Given the description of an element on the screen output the (x, y) to click on. 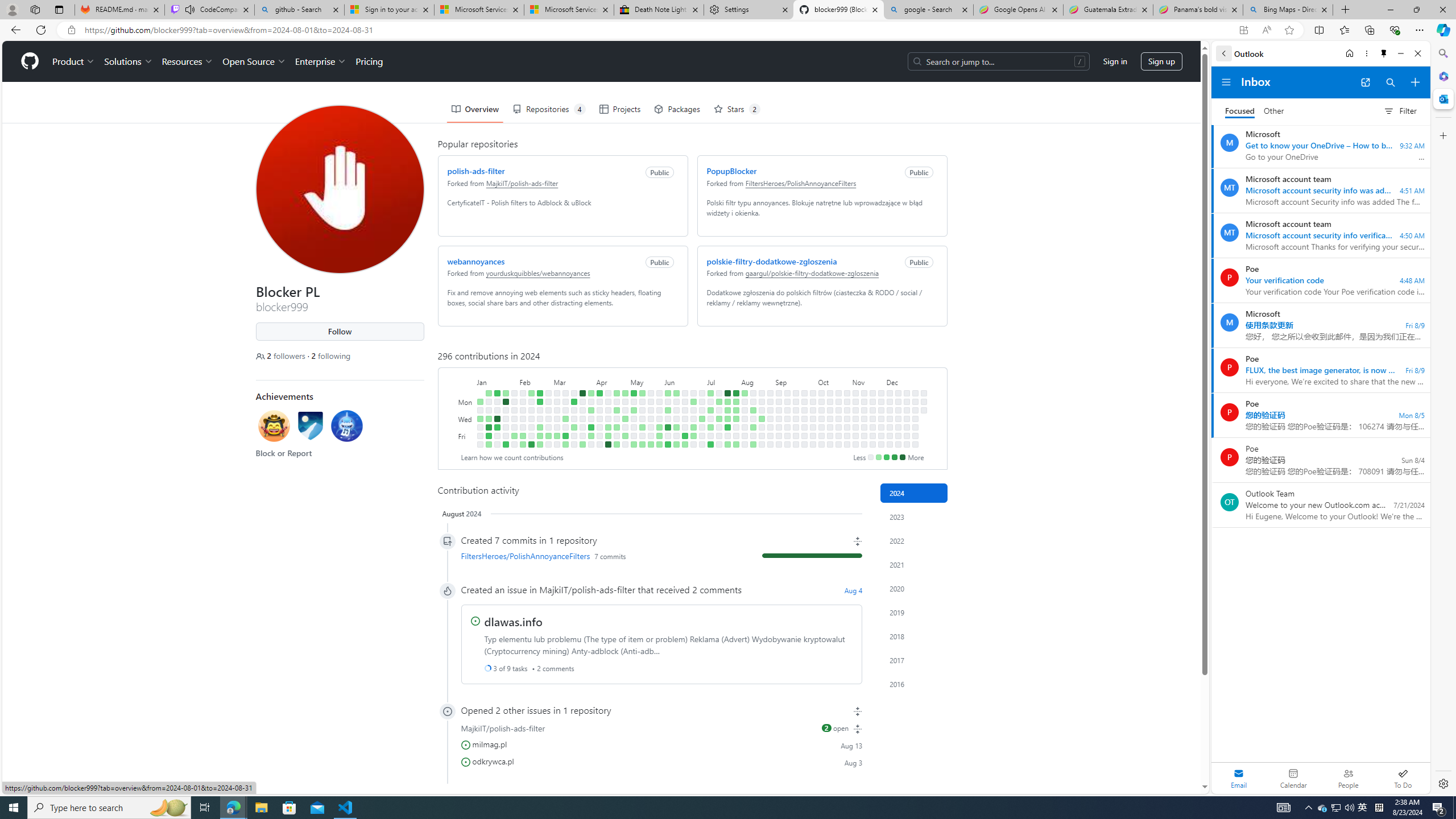
Monday (465, 401)
No contributions on January 2nd. (479, 410)
2 contributions on June 13th. (675, 427)
5 contributions on February 18th. (539, 392)
No contributions on October 12th. (821, 444)
No contributions on January 25th. (505, 427)
1 contribution on July 7th. (710, 392)
5 contributions on April 4th. (591, 427)
2 contributions on June 28th. (693, 435)
No contributions on January 23rd. (505, 410)
No contributions on September 27th. (804, 435)
No contributions on May 21st. (650, 410)
No contributions on February 28th. (547, 418)
